Given the description of an element on the screen output the (x, y) to click on. 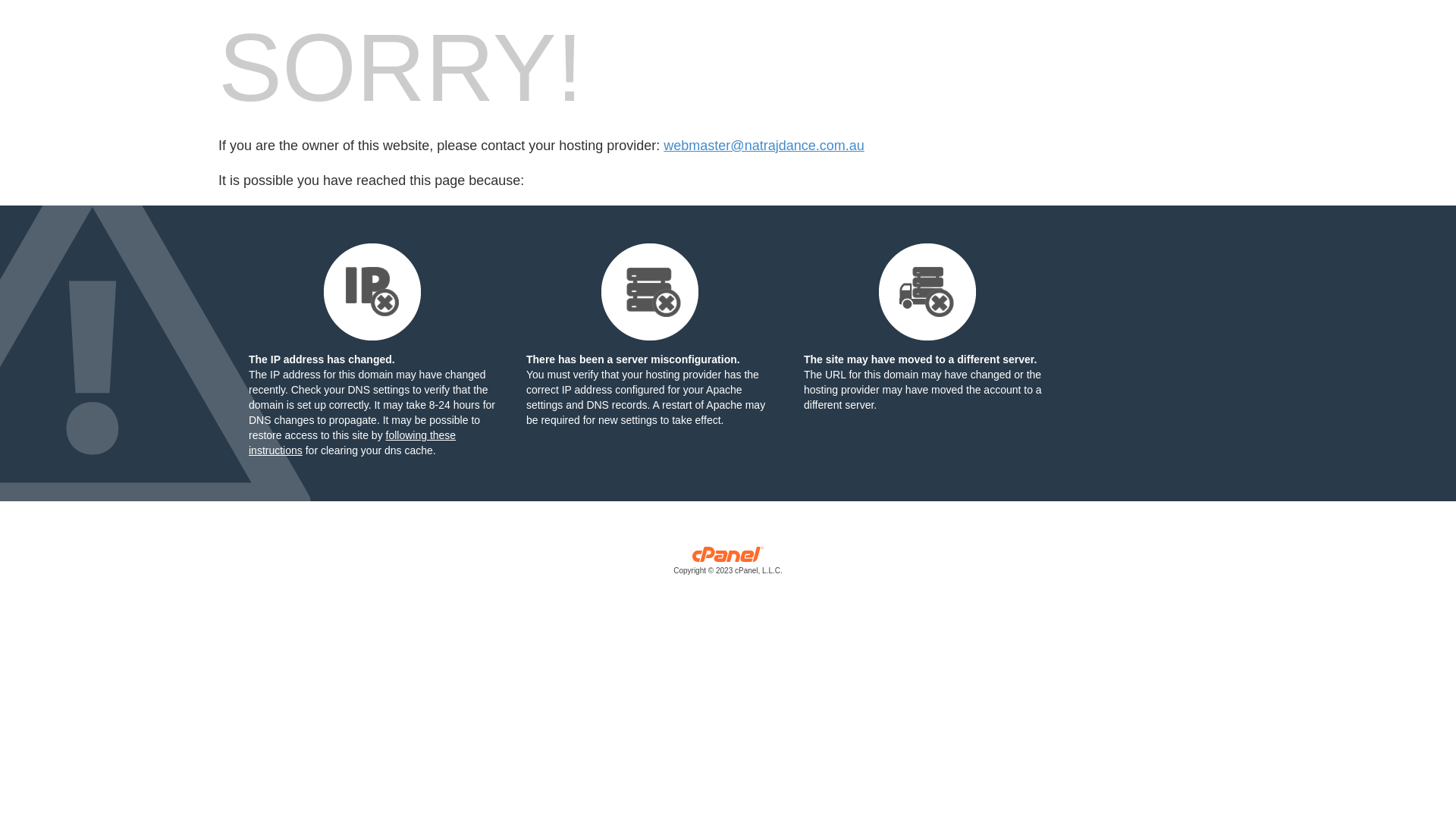
webmaster@natrajdance.com.au Element type: text (763, 145)
following these instructions Element type: text (351, 442)
